Given the description of an element on the screen output the (x, y) to click on. 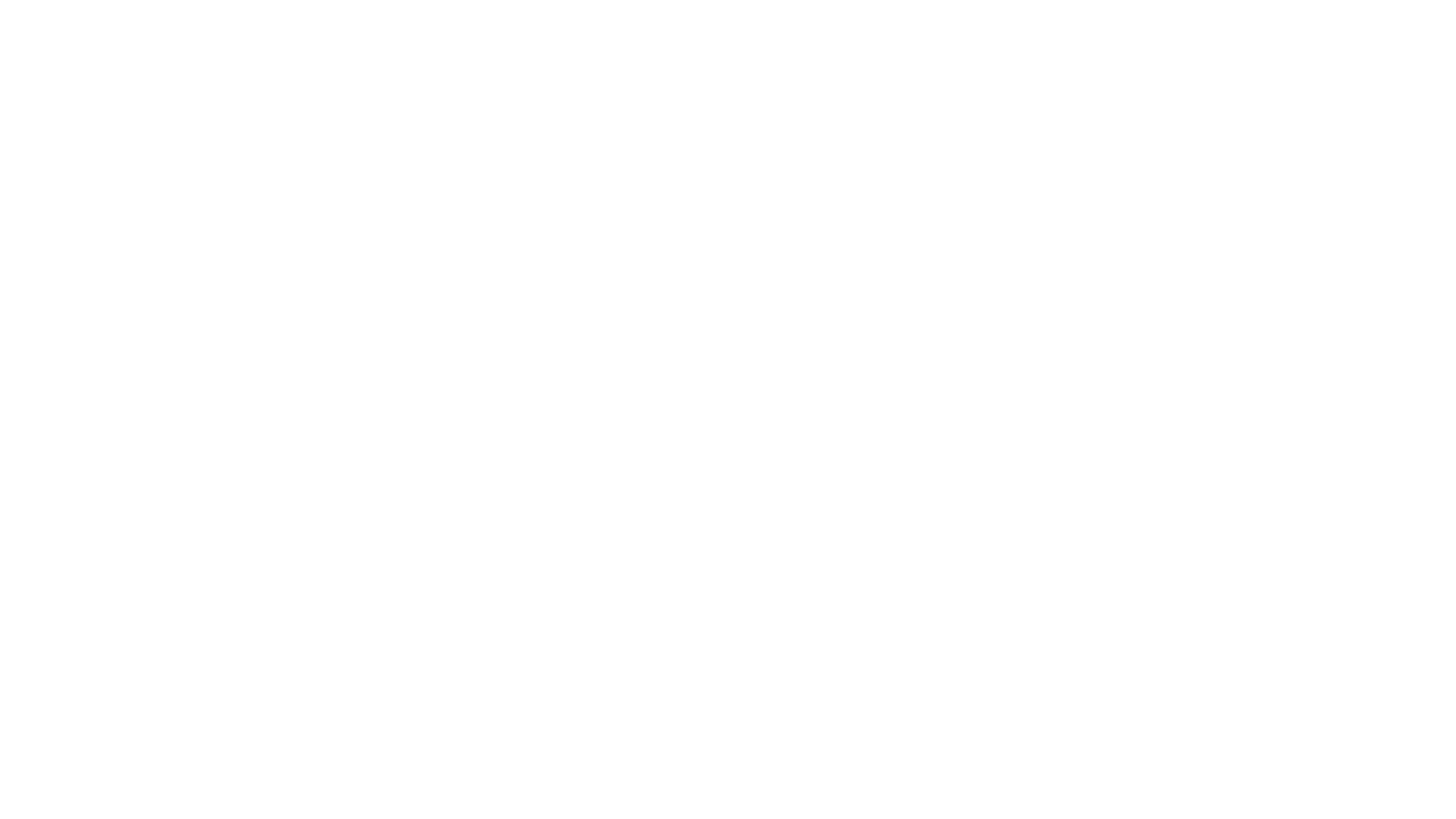
CONNEXION Element type: text (854, 205)
